Given the description of an element on the screen output the (x, y) to click on. 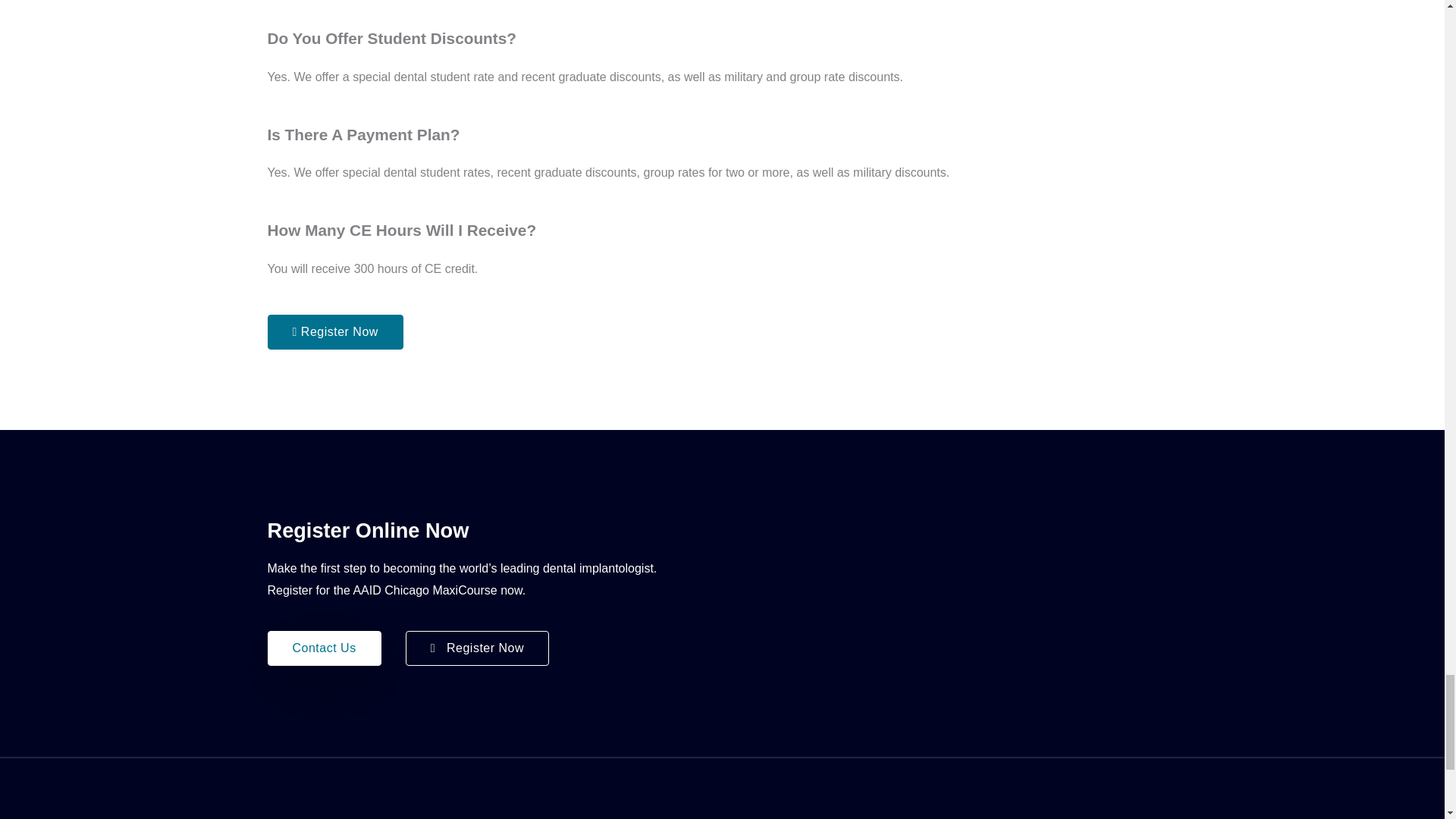
Register Now (334, 331)
Contact Us (323, 647)
Register Now (477, 647)
